Given the description of an element on the screen output the (x, y) to click on. 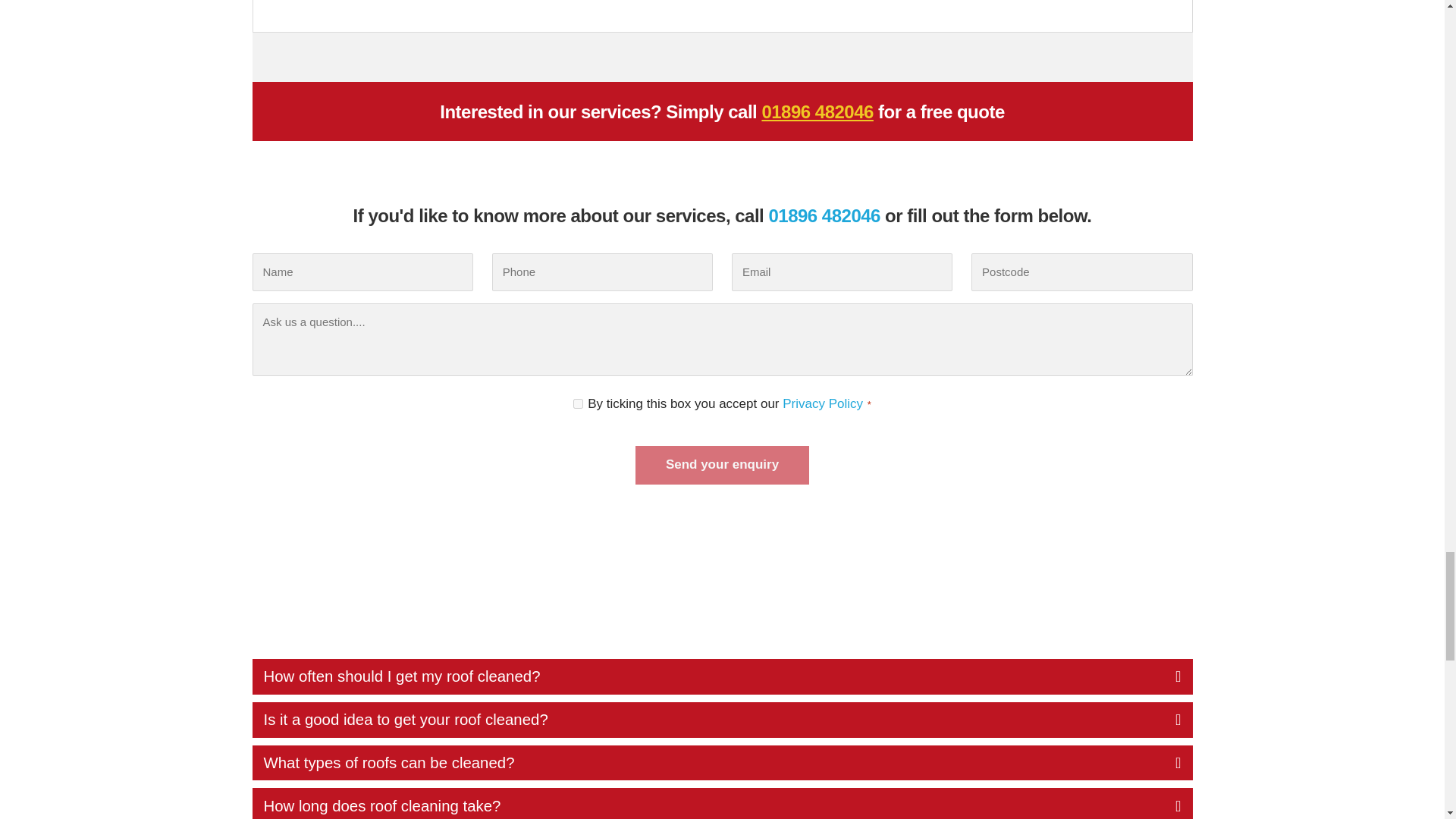
Privacy Policy (823, 403)
1 (578, 403)
Send your enquiry (721, 464)
01896 482046 (824, 215)
01896 482046 (817, 111)
